Given the description of an element on the screen output the (x, y) to click on. 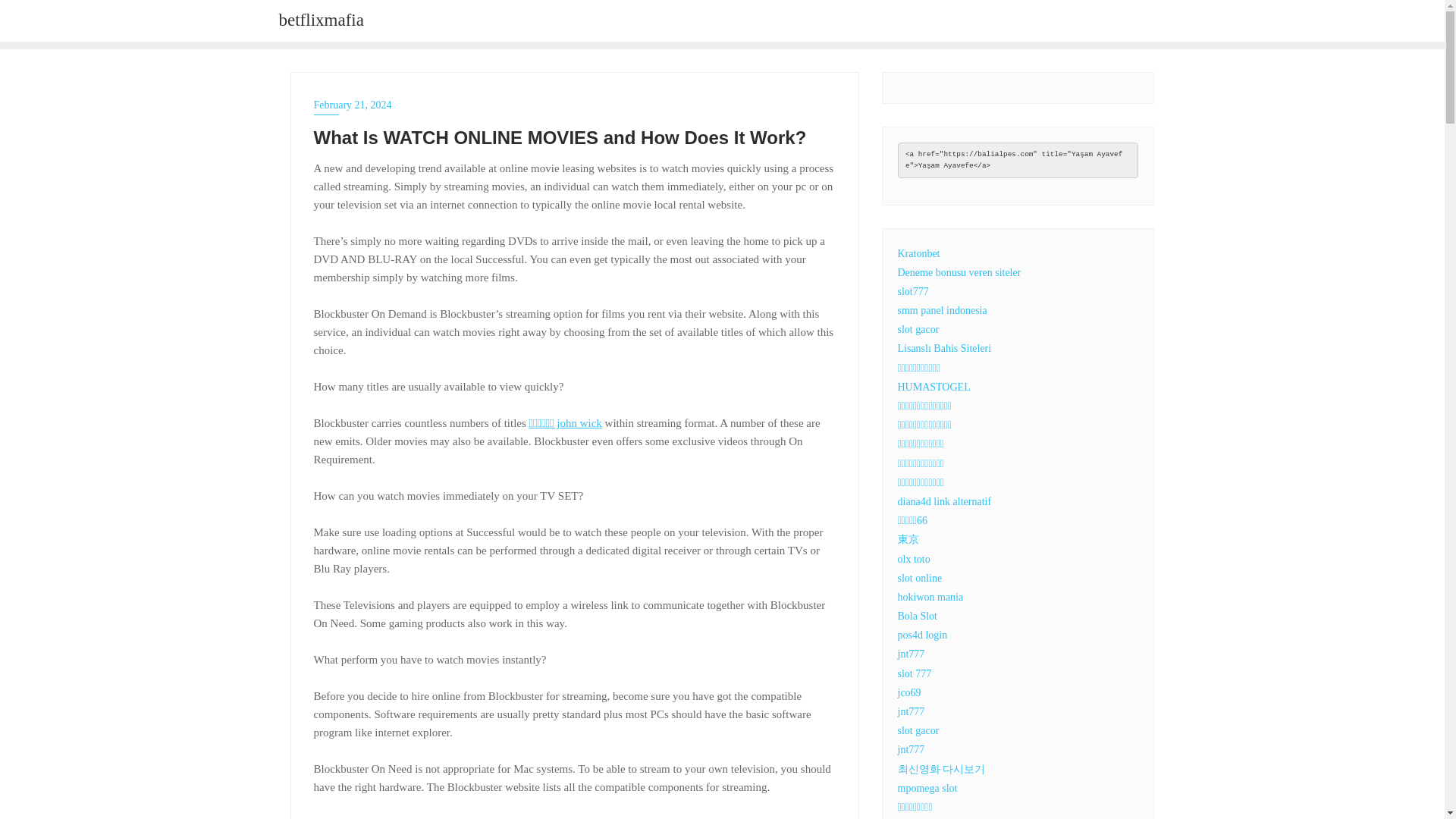
Bola Slot (917, 615)
jnt777 (911, 654)
jnt777 (911, 749)
hokiwon mania (930, 596)
February 21, 2024 (574, 104)
jco69 (909, 692)
mpomega slot (928, 787)
jnt777 (911, 711)
Deneme bonusu veren siteler (960, 272)
slot gacor (918, 730)
